Given the description of an element on the screen output the (x, y) to click on. 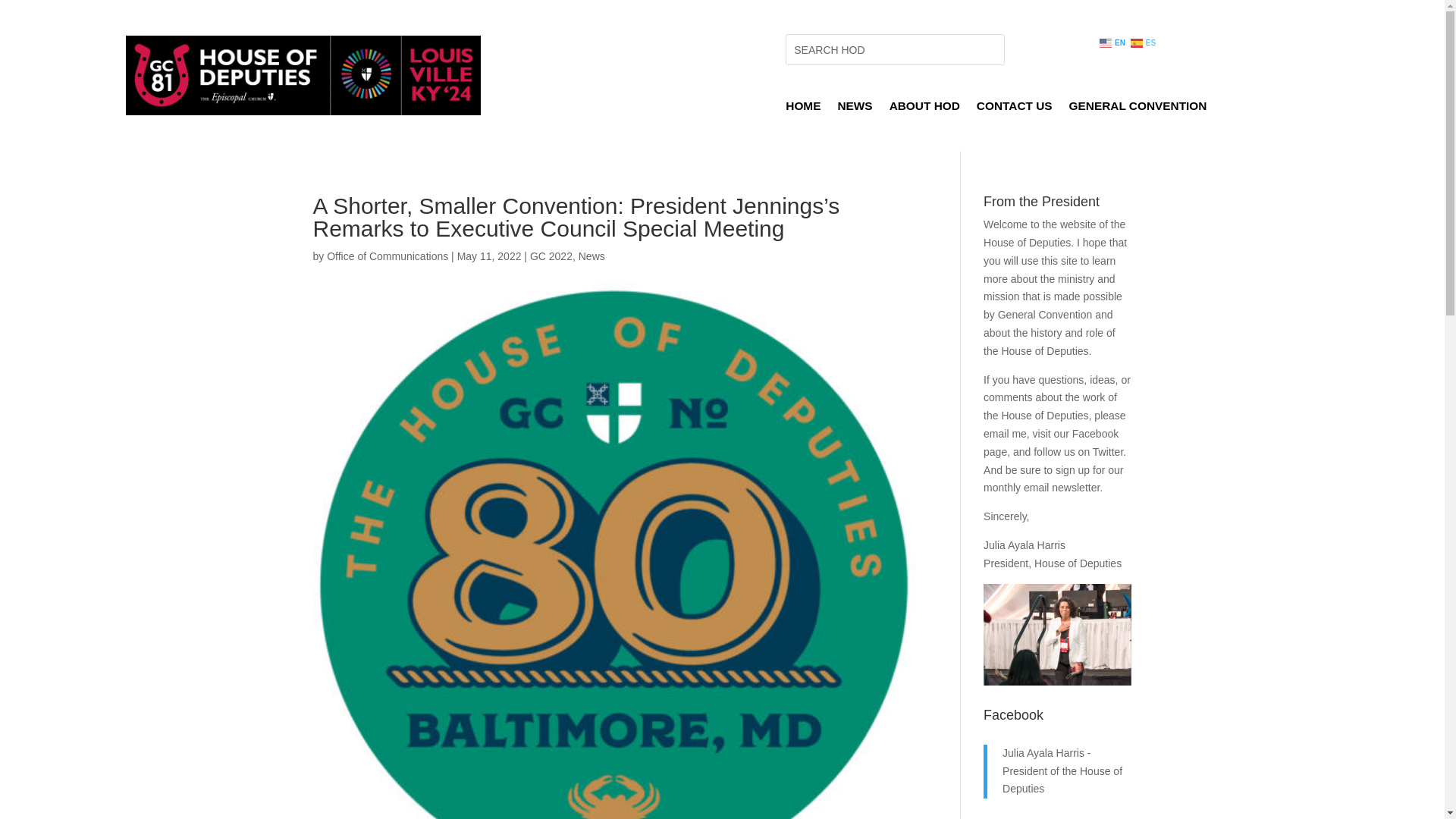
Julia Ayala Harris - President of the House of Deputies (1062, 770)
ABOUT HOD (924, 108)
Search (24, 14)
ES (1144, 42)
News (591, 256)
sign up (1072, 469)
Facebook page (1051, 442)
GC 2022 (550, 256)
email me (1005, 433)
English (1112, 42)
NEWS (854, 108)
CONTACT US (1014, 108)
GC-Logo-2024-HOD-Horizontal (302, 75)
GENERAL CONVENTION (1137, 108)
Posts by Office of Communications (387, 256)
